Given the description of an element on the screen output the (x, y) to click on. 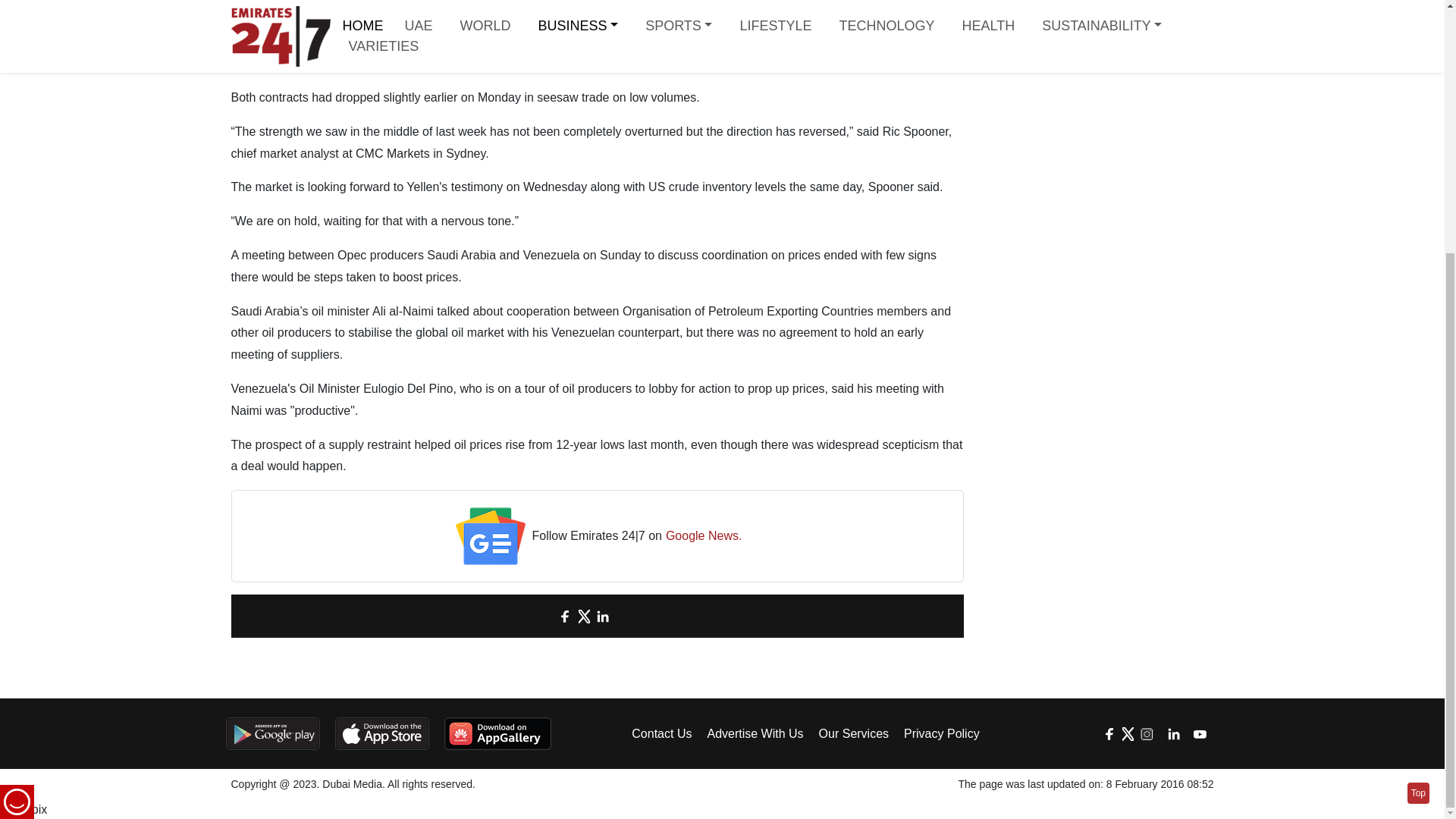
Go to top (1418, 435)
Google News. (703, 536)
